Given the description of an element on the screen output the (x, y) to click on. 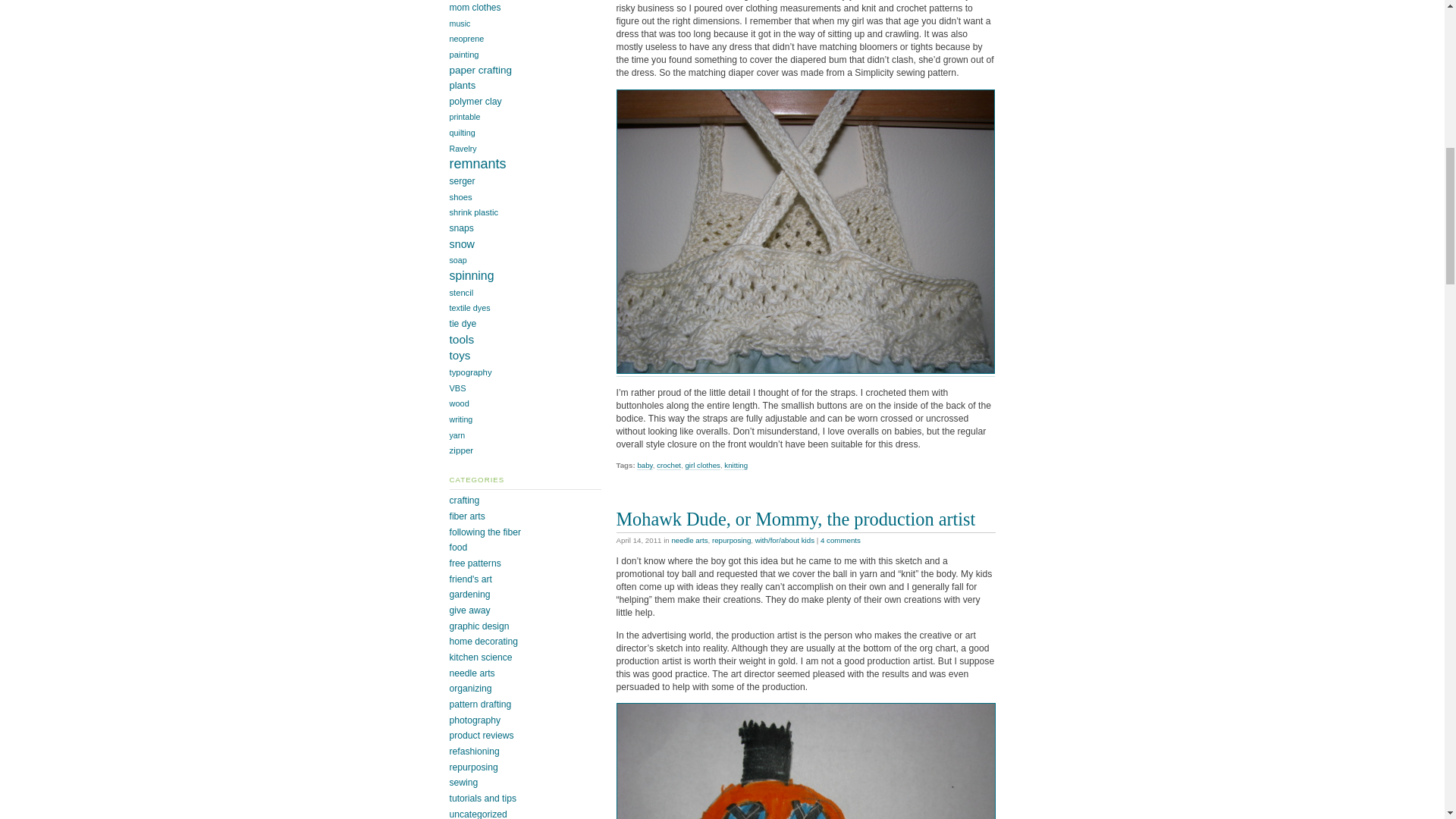
4 comments (840, 540)
Mohawk Dude, or Mommy, the production artist (795, 518)
baby (644, 465)
girl clothes (701, 465)
needle arts (689, 540)
crochet (668, 465)
repurposing (731, 540)
knitting (735, 465)
